Given the description of an element on the screen output the (x, y) to click on. 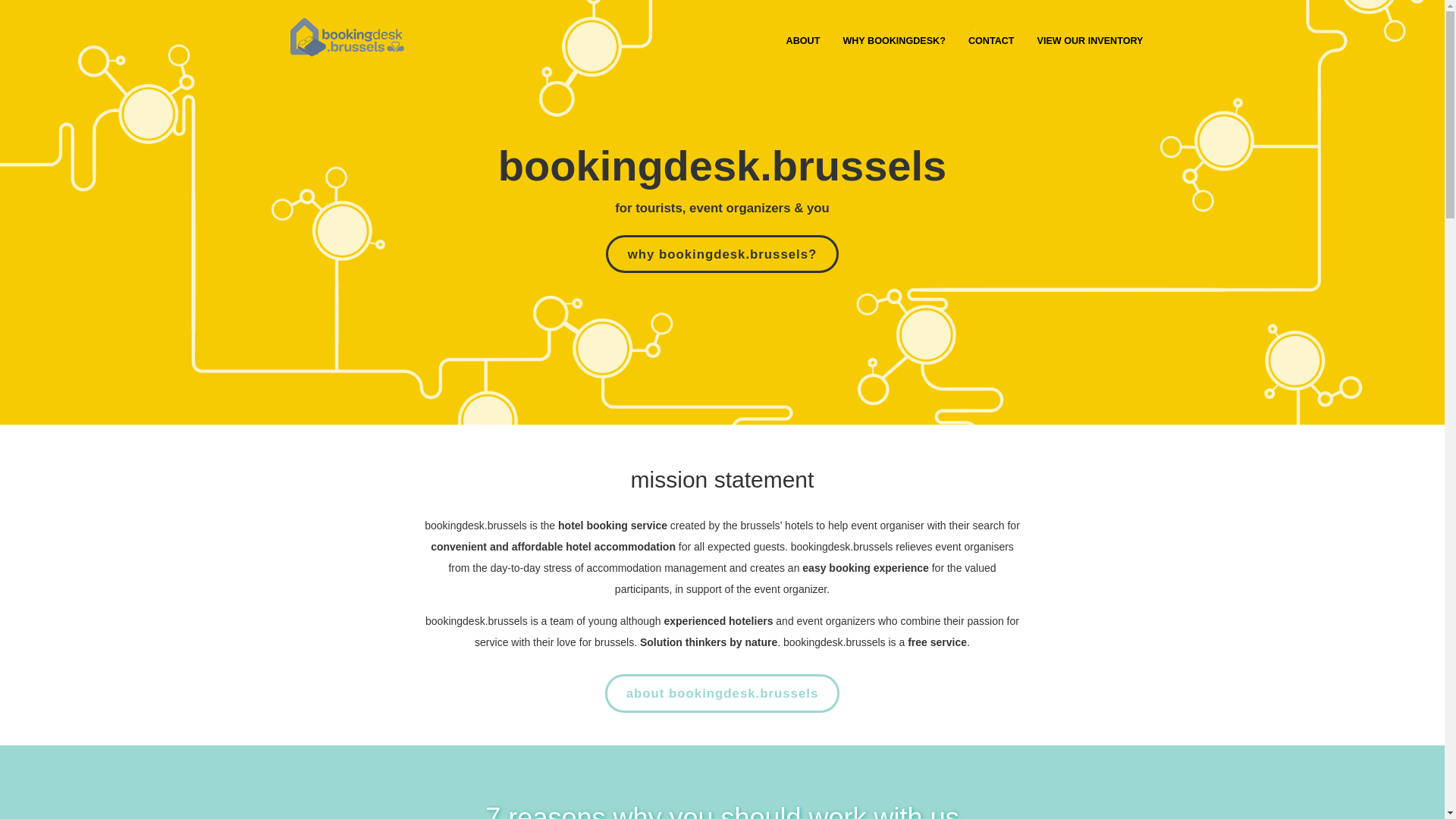
CONTACT Element type: text (991, 40)
ABOUT Element type: text (803, 40)
why bookingdesk.brussels? Element type: text (721, 254)
WHY BOOKINGDESK? Element type: text (894, 40)
about bookingdesk.brussels Element type: text (722, 693)
VIEW OUR INVENTORY Element type: text (1090, 40)
